Given the description of an element on the screen output the (x, y) to click on. 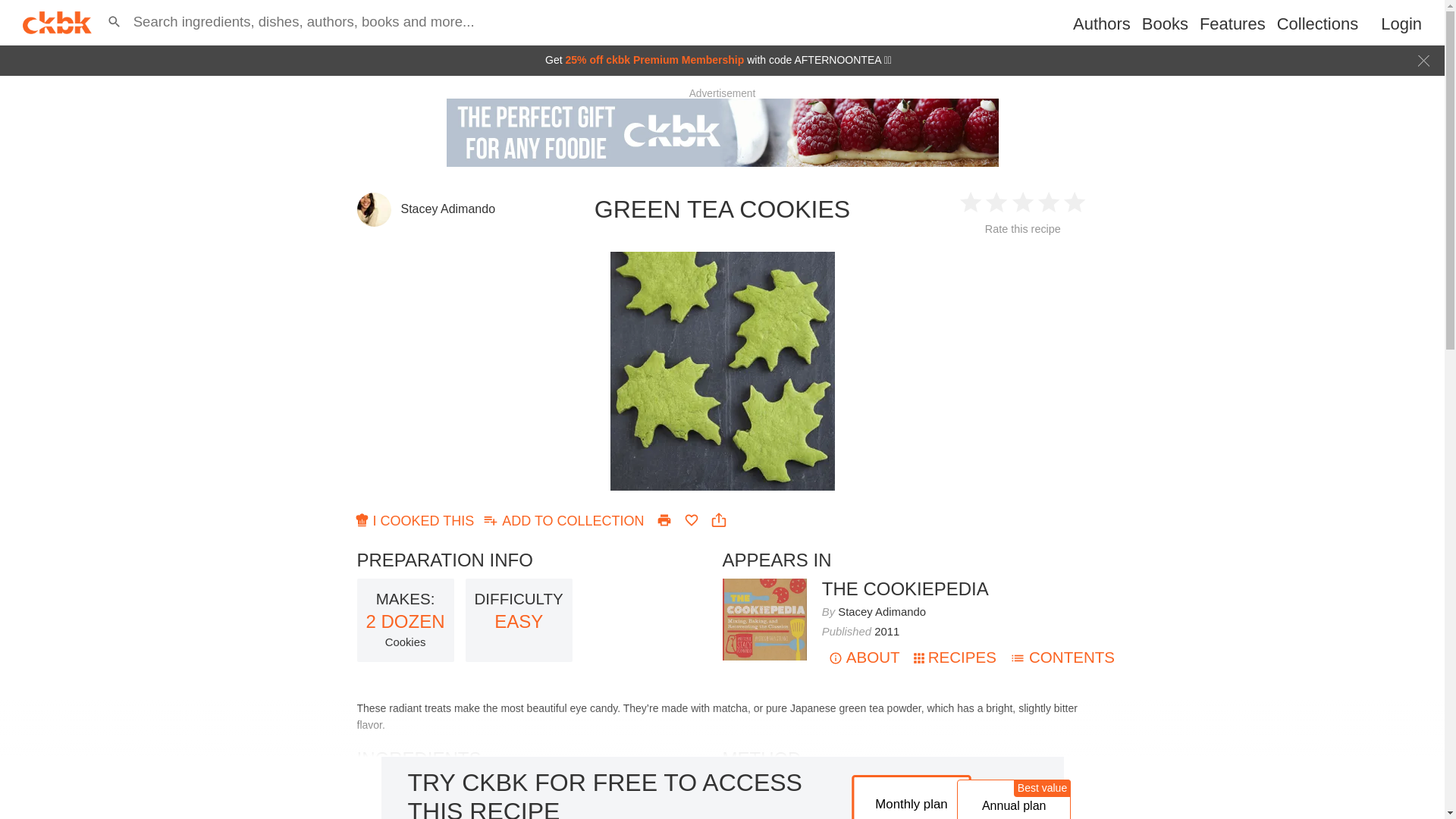
I COOKED THIS (415, 519)
Print (664, 519)
About this book (864, 656)
About this book (905, 588)
Books (1164, 24)
CONTENTS (1062, 656)
